Given the description of an element on the screen output the (x, y) to click on. 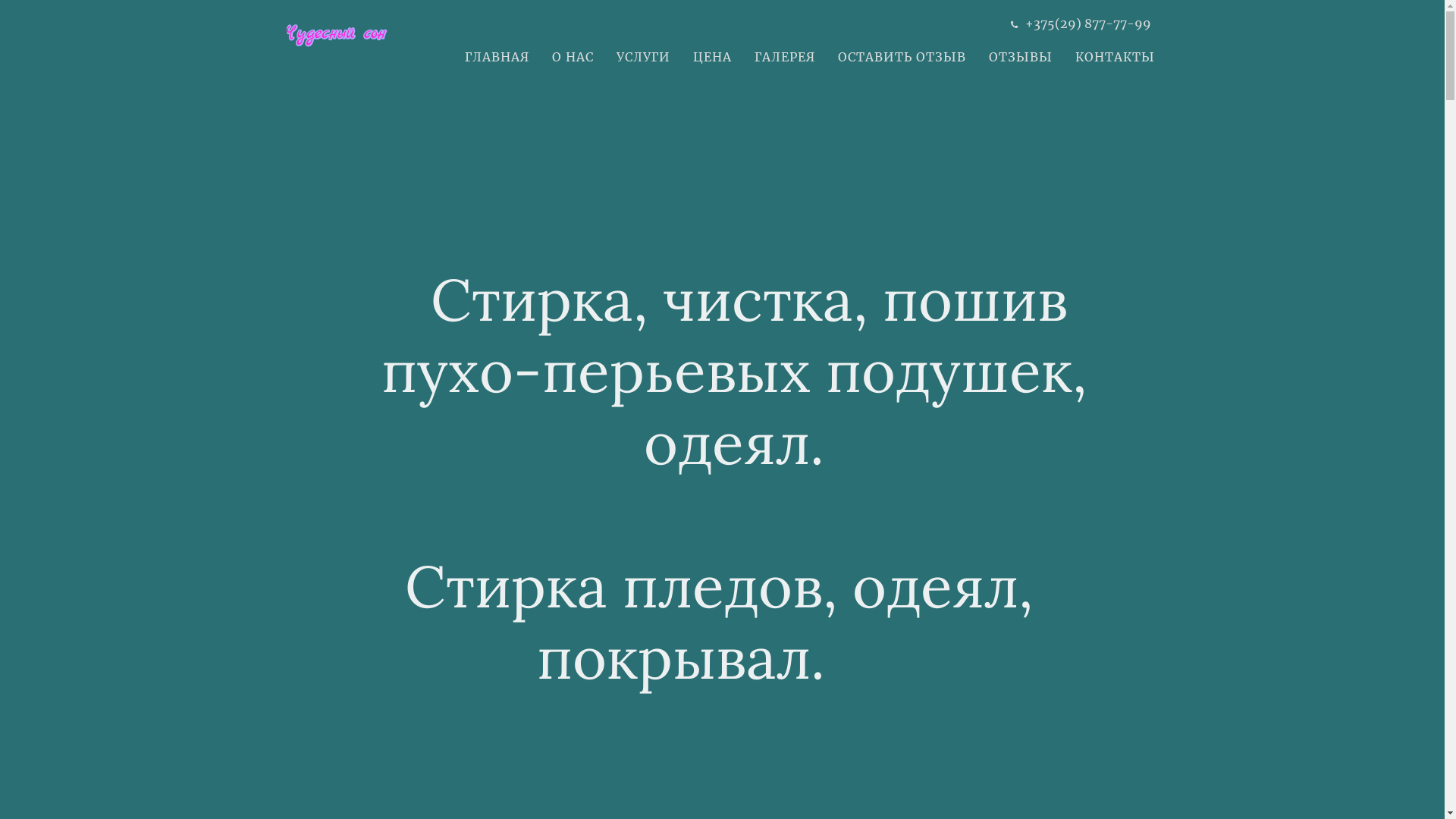
+375(29) 877-77-99 Element type: text (1088, 23)
